Given the description of an element on the screen output the (x, y) to click on. 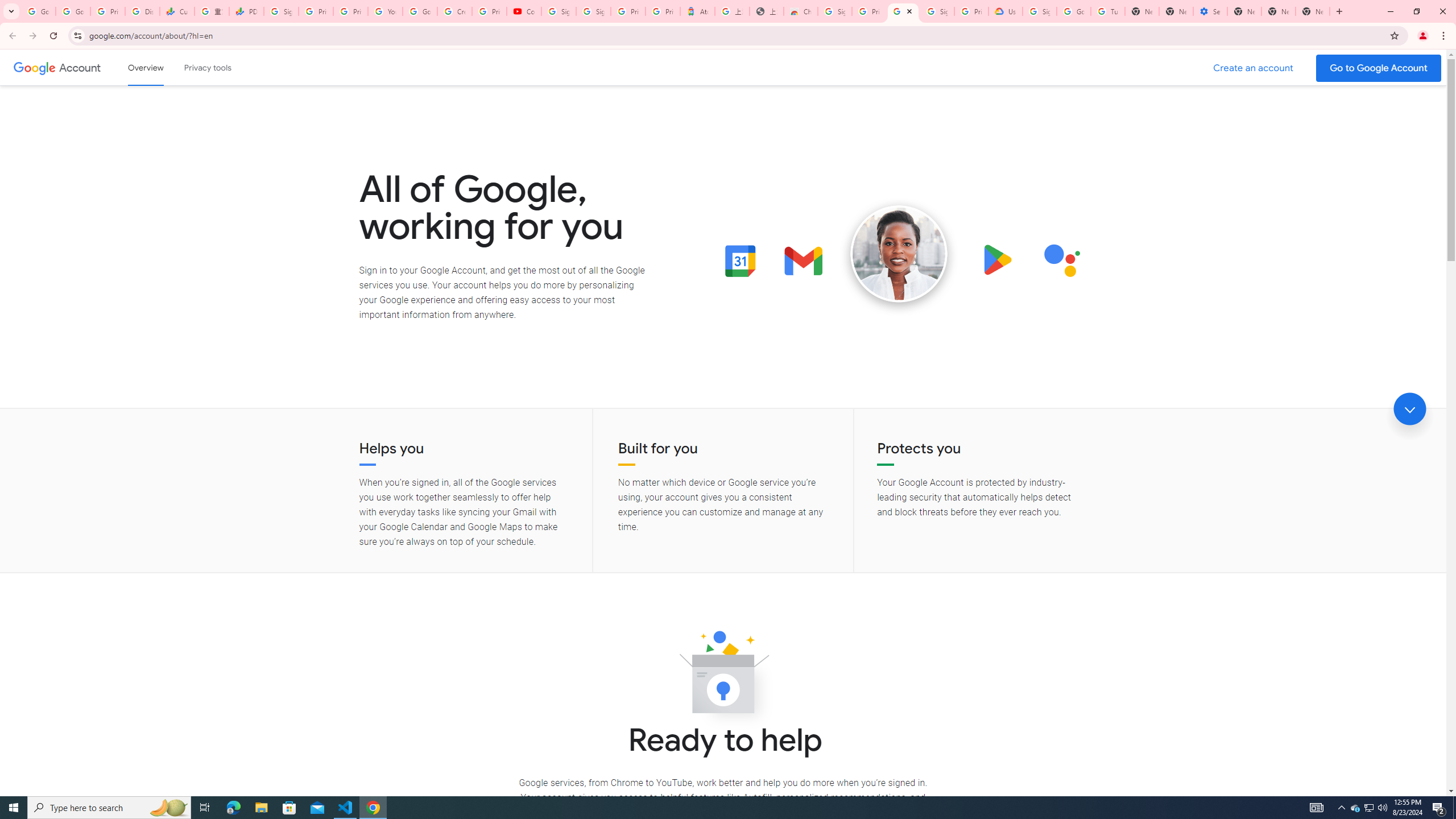
Go to your Google Account (1378, 67)
Google logo (34, 67)
New Tab (1141, 11)
Ready to help (722, 675)
Google Account (80, 67)
Content Creator Programs & Opportunities - YouTube Creators (524, 11)
Create your Google Account (454, 11)
